Given the description of an element on the screen output the (x, y) to click on. 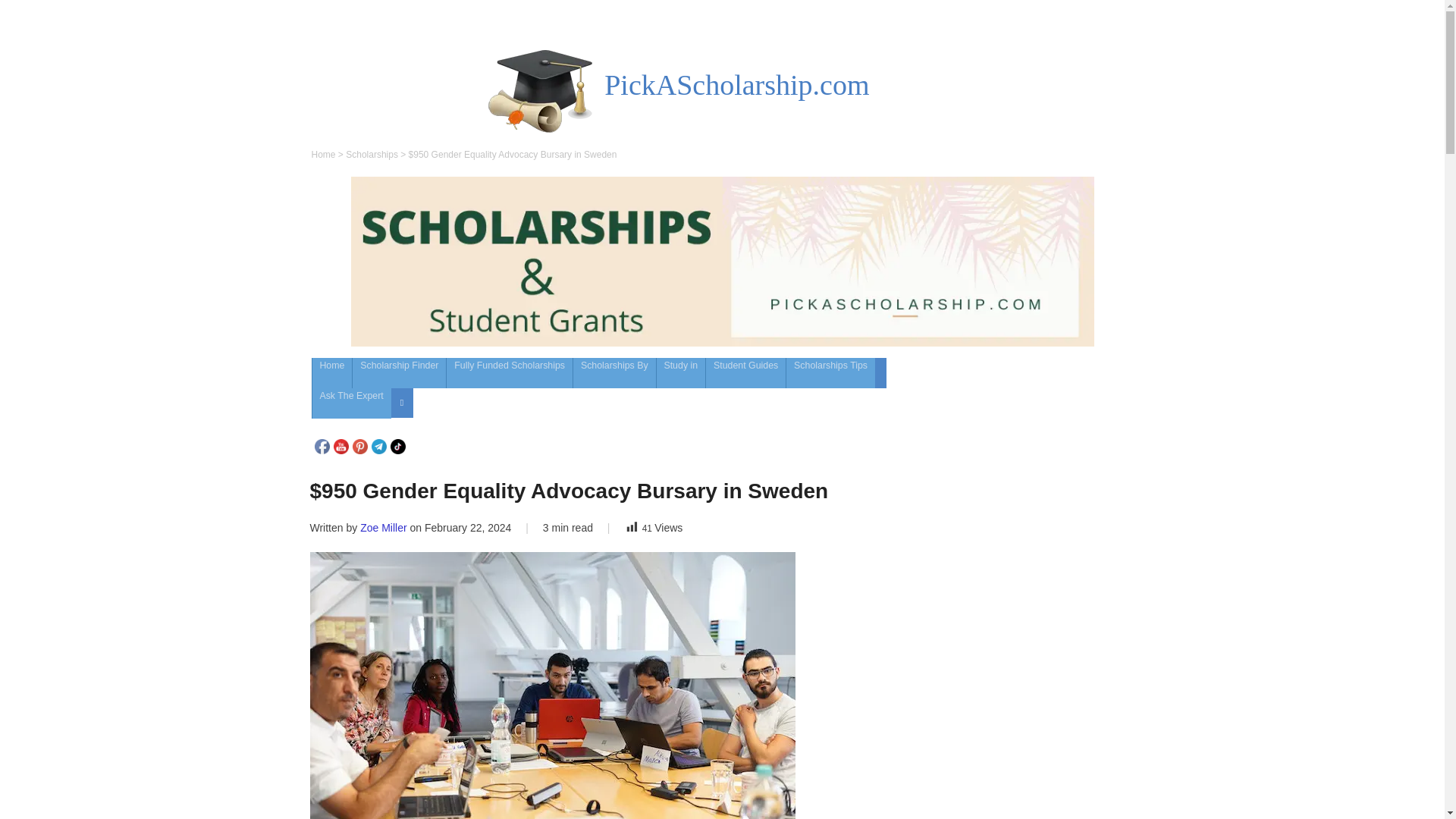
PickAScholarship.com (736, 84)
Go to Scholarships. (371, 154)
Tiktok (397, 446)
Scholarship Finder (398, 372)
Go to PickAScholarship.com. (322, 154)
Scholarships By (614, 372)
Telegram (379, 446)
Facebook (321, 446)
Home (322, 154)
Pinterest (359, 446)
